Given the description of an element on the screen output the (x, y) to click on. 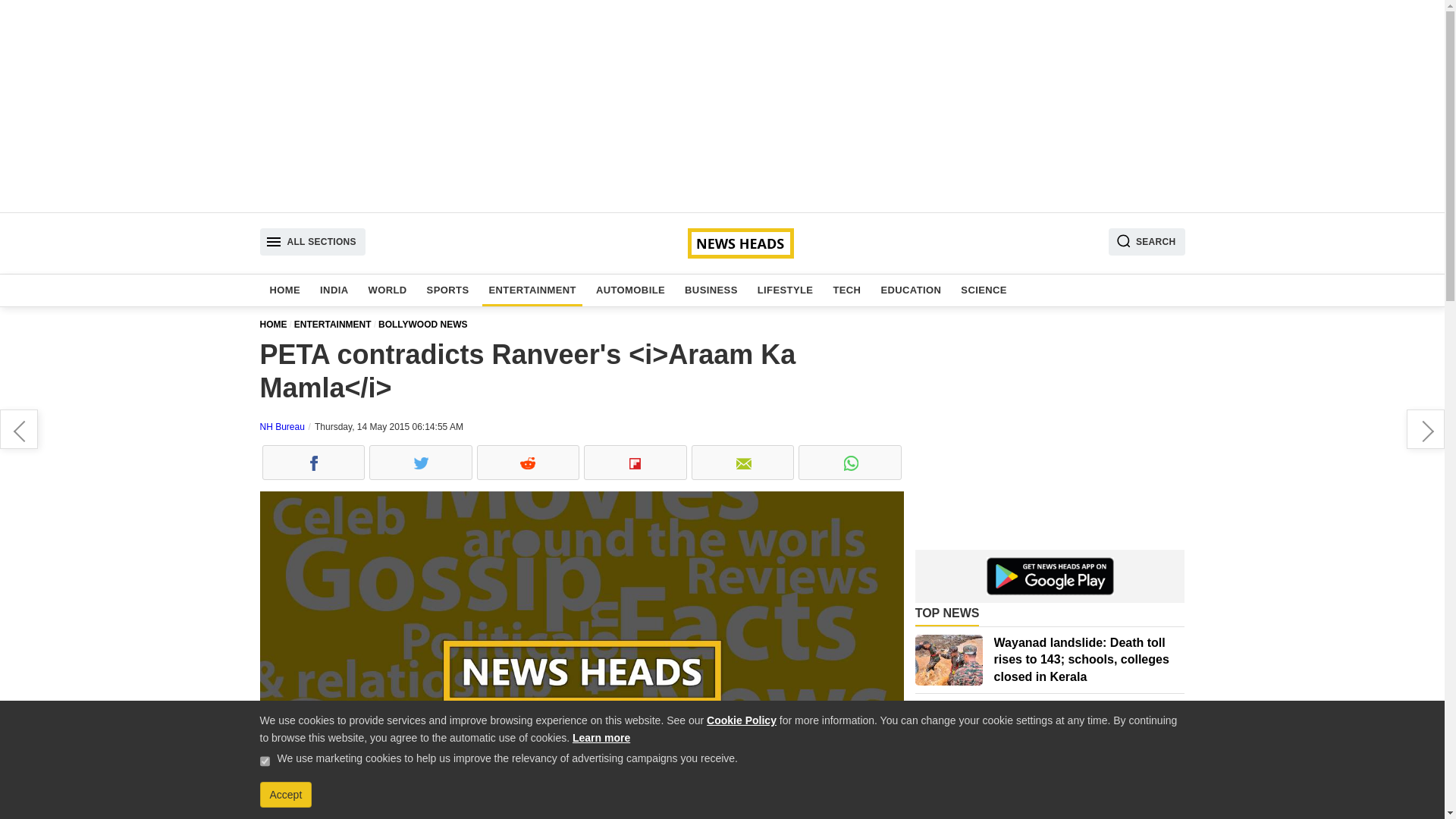
Cookie Policy (741, 720)
Learn more (601, 737)
ALL SECTIONS (312, 241)
HOME (276, 324)
SPORTS (448, 290)
Advertisement (1050, 436)
ENTERTAINMENT (336, 324)
SCIENCE (984, 290)
SEARCH (1146, 241)
NH Bureau (281, 426)
WORLD (387, 290)
Accept (285, 794)
